Given the description of an element on the screen output the (x, y) to click on. 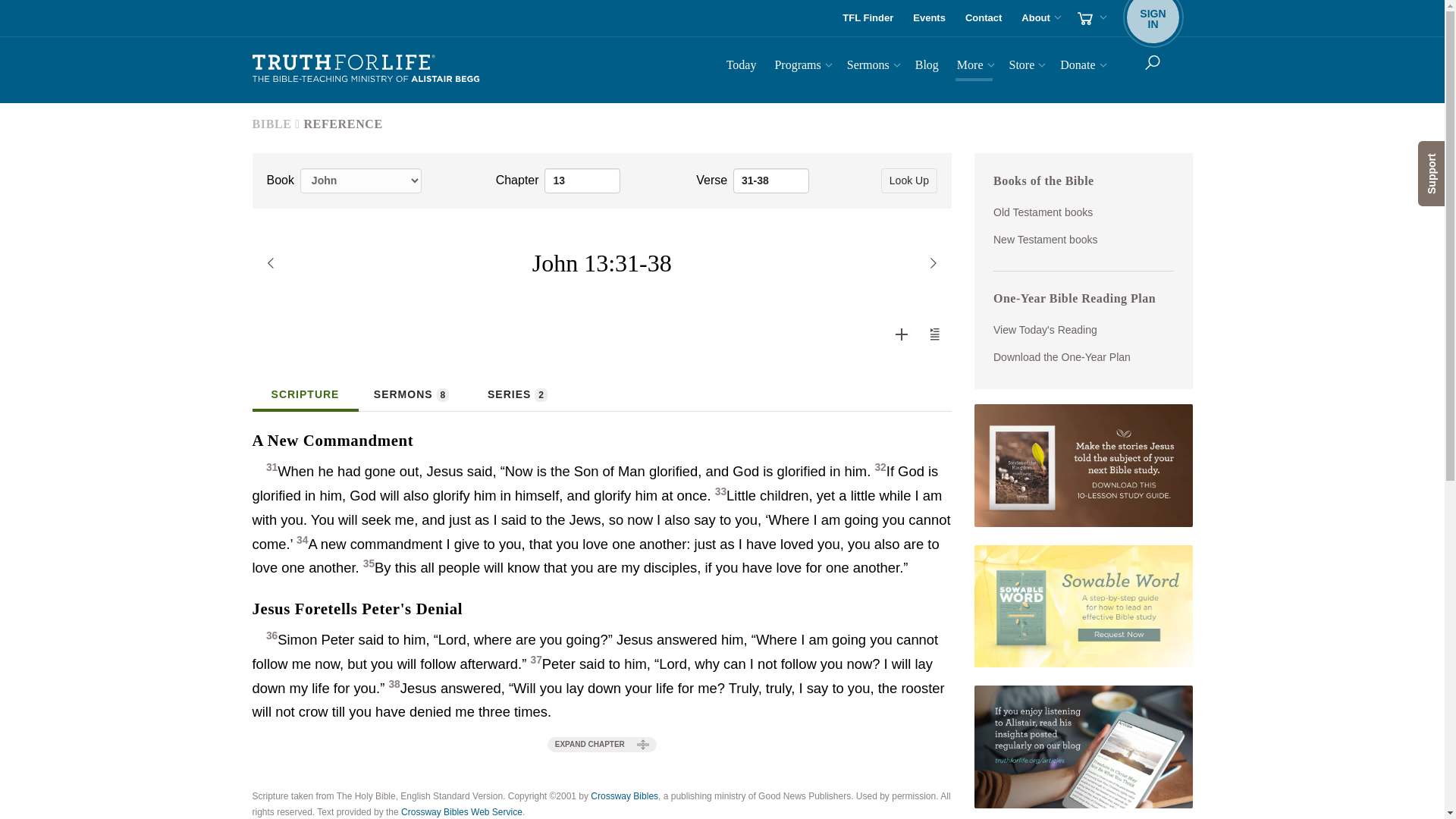
Events (929, 18)
31-38 (771, 180)
TFL Finder (867, 18)
Add to My Library (901, 334)
About (1039, 18)
13 (1152, 18)
Truth For Life (582, 180)
Contact (365, 68)
Listen Queue (983, 18)
Add to Listen Queue (935, 334)
Add to My Library (934, 334)
cart (901, 334)
Today (1090, 18)
Programs (741, 66)
